Given the description of an element on the screen output the (x, y) to click on. 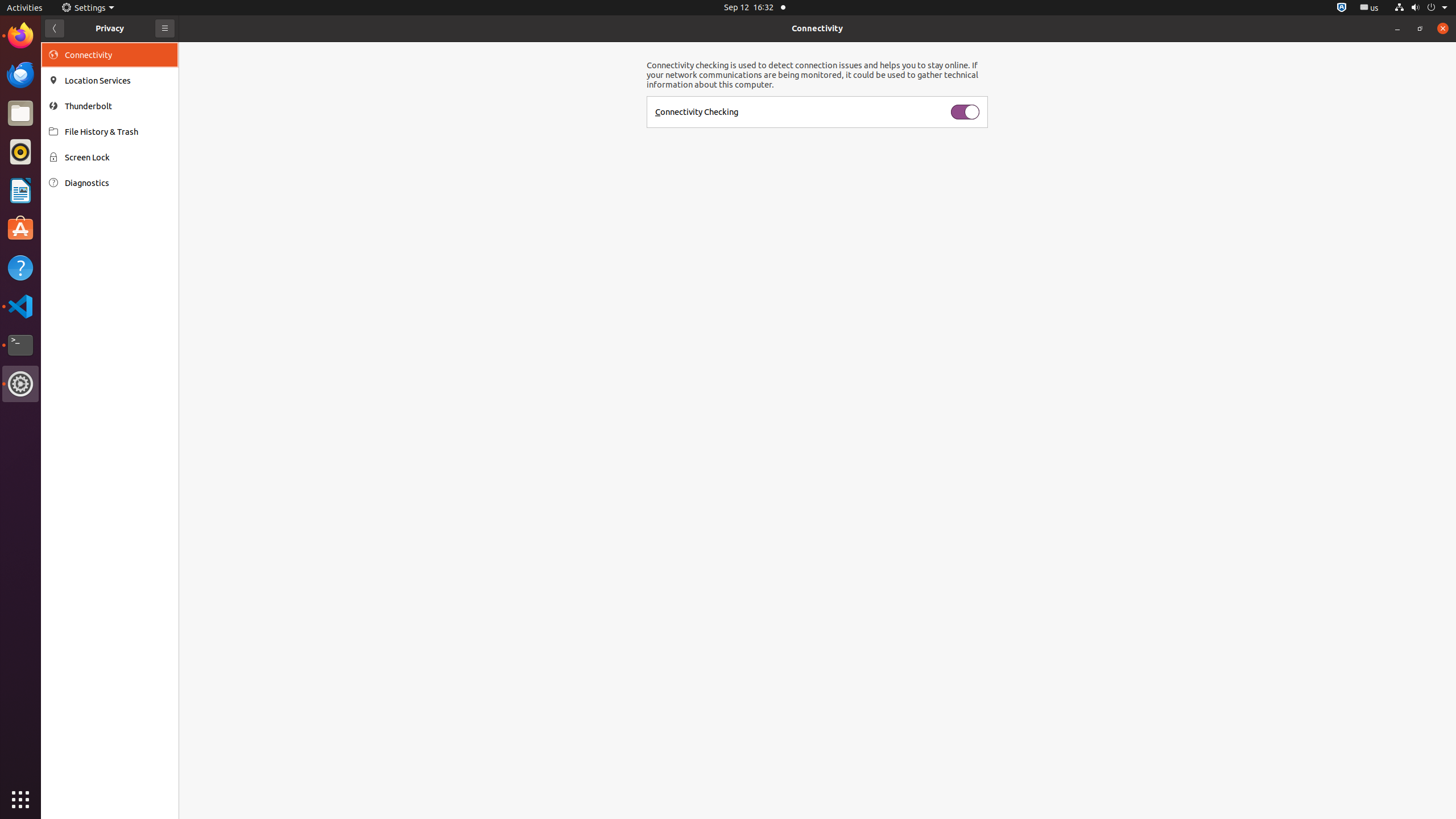
Connectivity Checking Element type: label (696, 111)
Primary Menu Element type: toggle-button (164, 28)
Diagnostics Element type: label (117, 182)
